Given the description of an element on the screen output the (x, y) to click on. 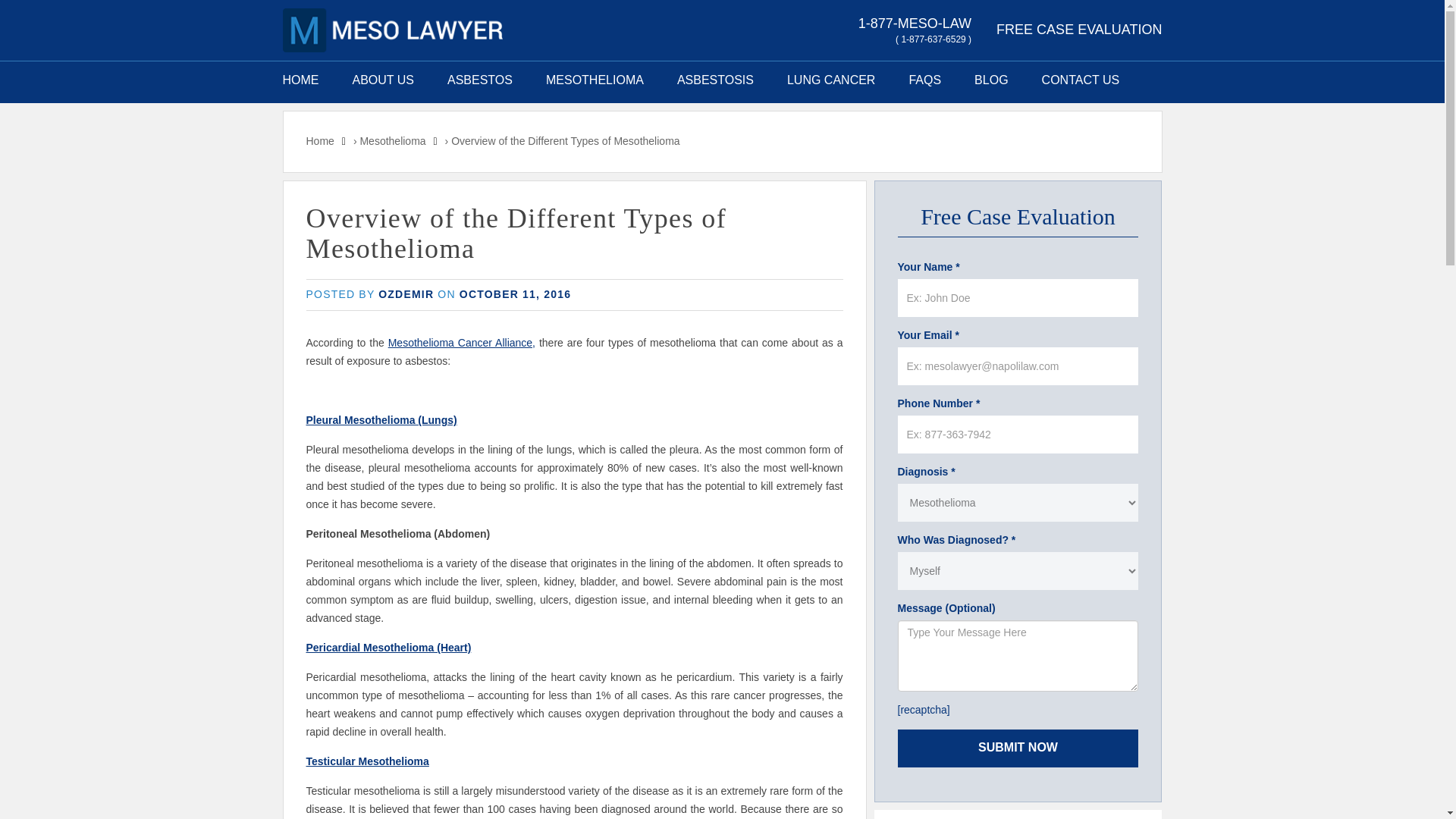
ABOUT US (382, 80)
SUBMIT NOW (1018, 748)
MESOTHELIOMA (594, 80)
HOME (309, 80)
BLOG (991, 80)
FAQS (924, 80)
LUNG CANCER (830, 80)
ASBESTOSIS (715, 80)
FREE CASE EVALUATION (1078, 29)
ASBESTOS (480, 80)
CONTACT US (1080, 80)
